Given the description of an element on the screen output the (x, y) to click on. 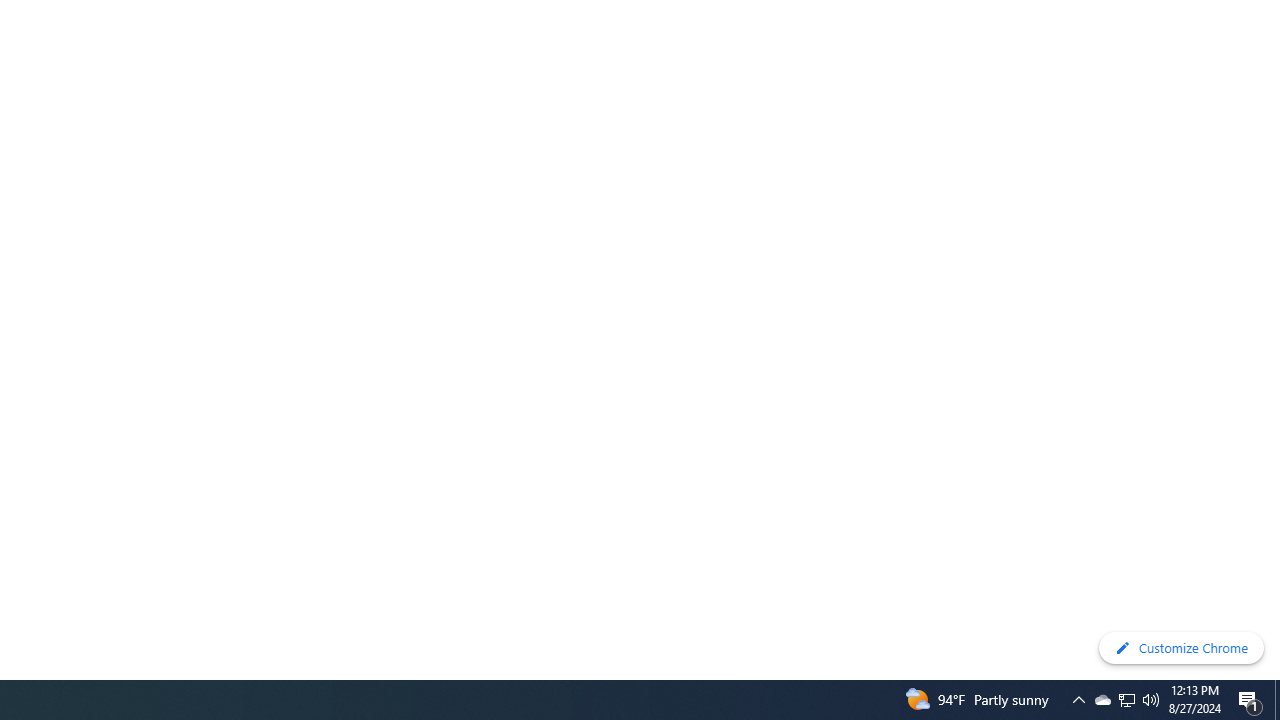
Customize Chrome (1181, 647)
